Given the description of an element on the screen output the (x, y) to click on. 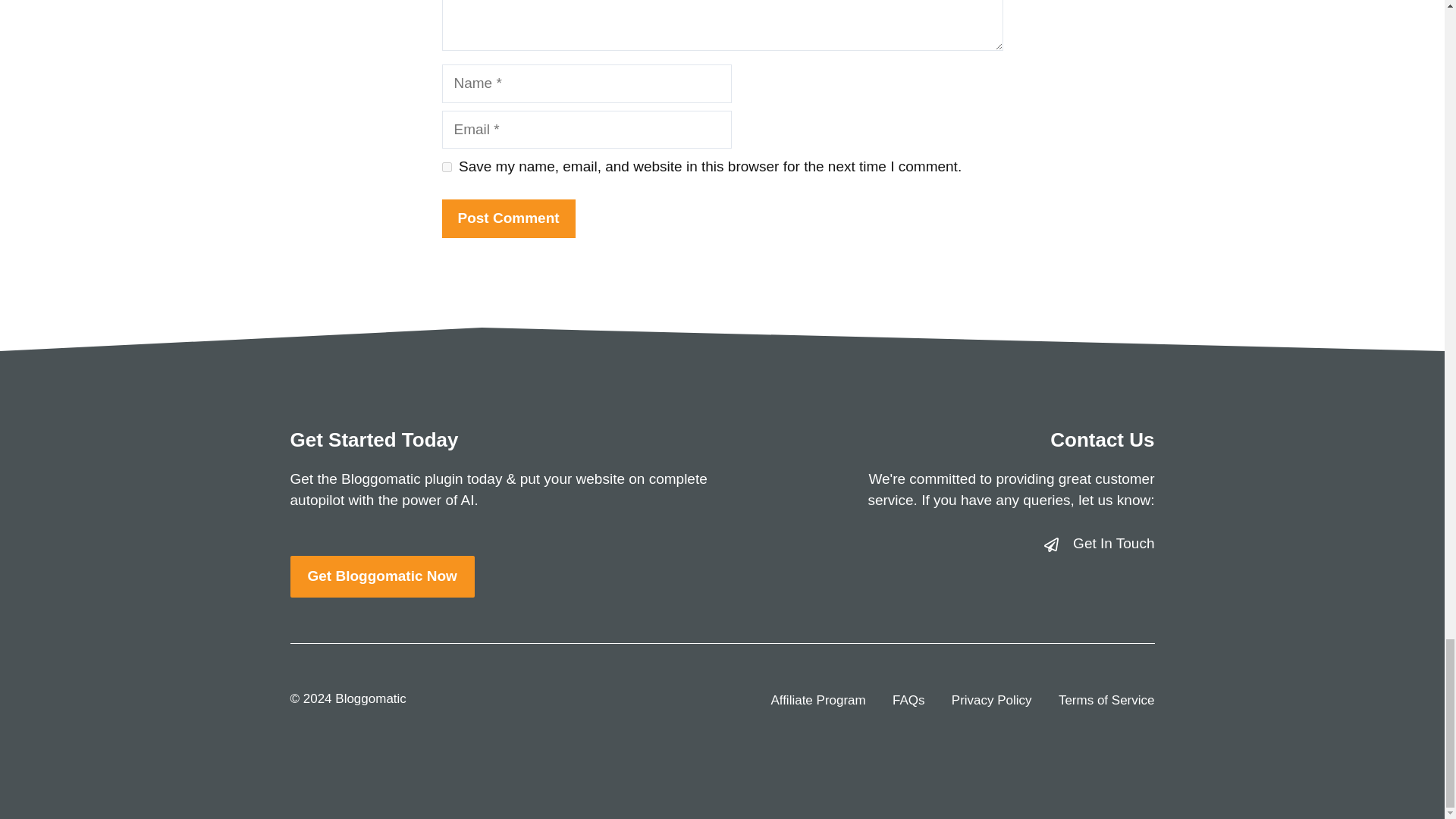
Affiliate Program (817, 700)
Post Comment (508, 218)
Privacy Policy (992, 700)
Get In Touch (1113, 543)
Get Bloggomatic Now (381, 576)
Terms of Service (1106, 700)
Post Comment (508, 218)
FAQs (908, 700)
yes (446, 166)
